Given the description of an element on the screen output the (x, y) to click on. 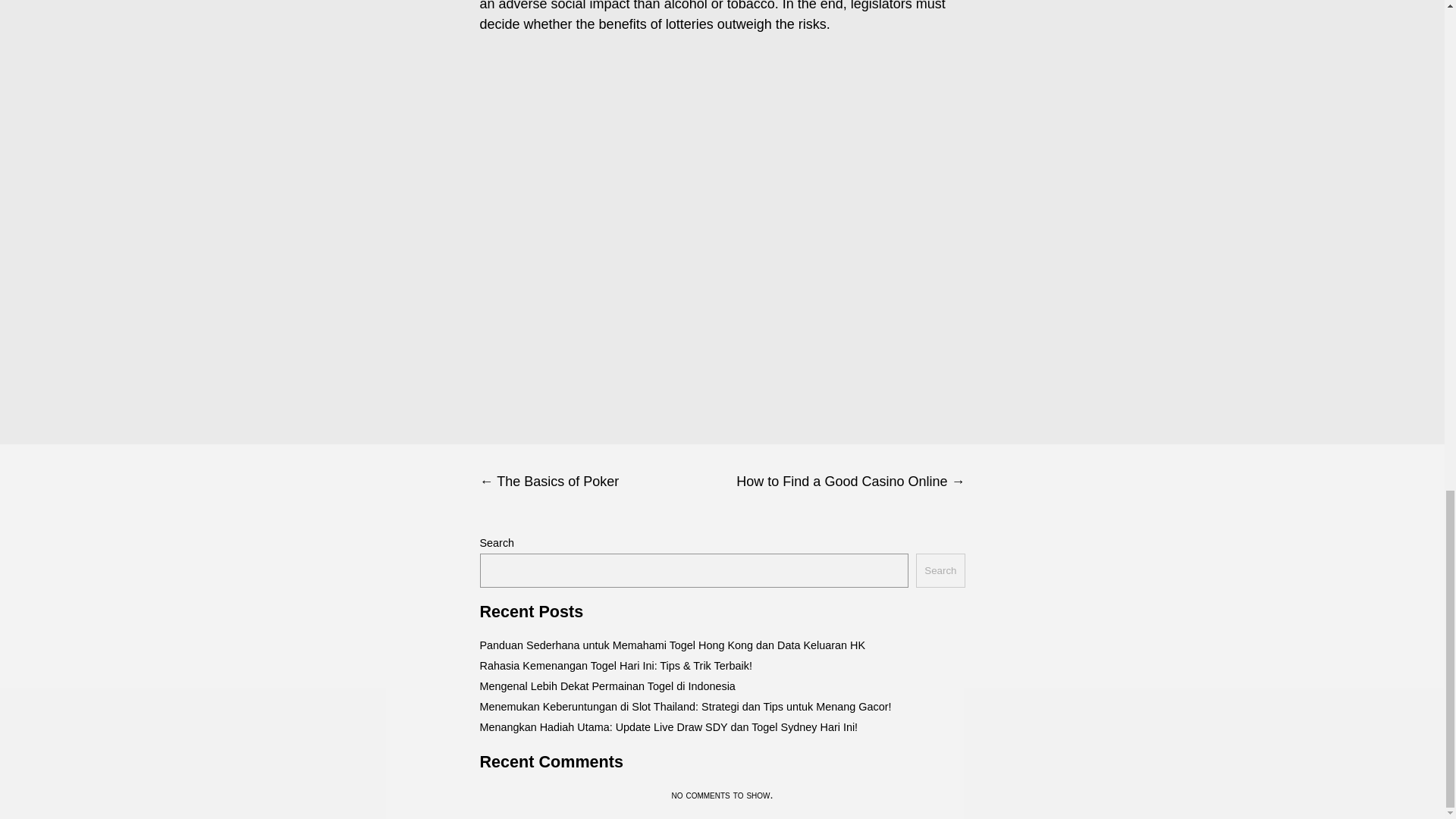
Mengenal Lebih Dekat Permainan Togel di Indonesia (607, 686)
How to Find a Good Casino Online (842, 481)
Search (939, 570)
The Basics of Poker (600, 481)
